Given the description of an element on the screen output the (x, y) to click on. 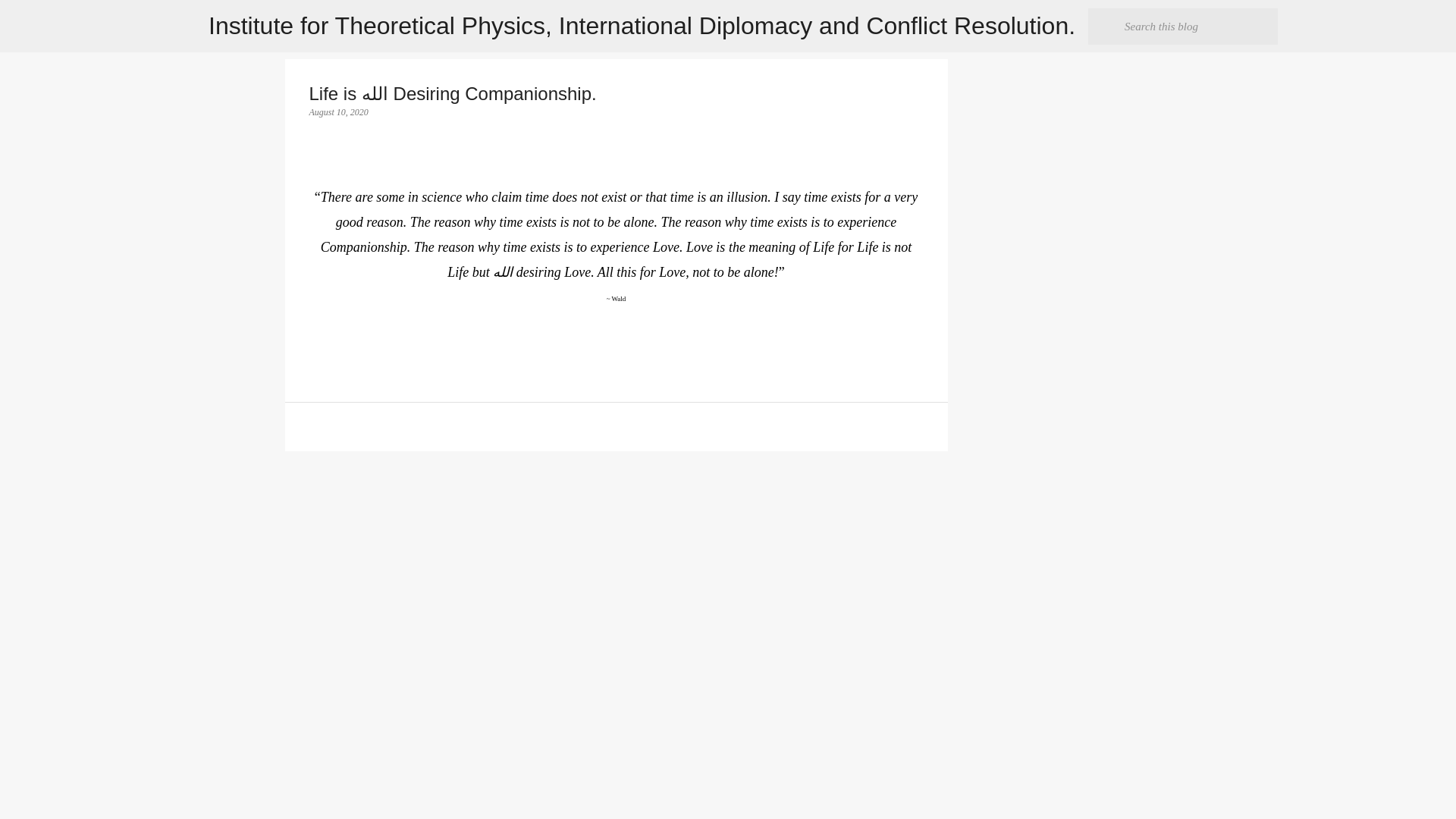
permanent link (338, 112)
August 10, 2020 (338, 112)
